Given the description of an element on the screen output the (x, y) to click on. 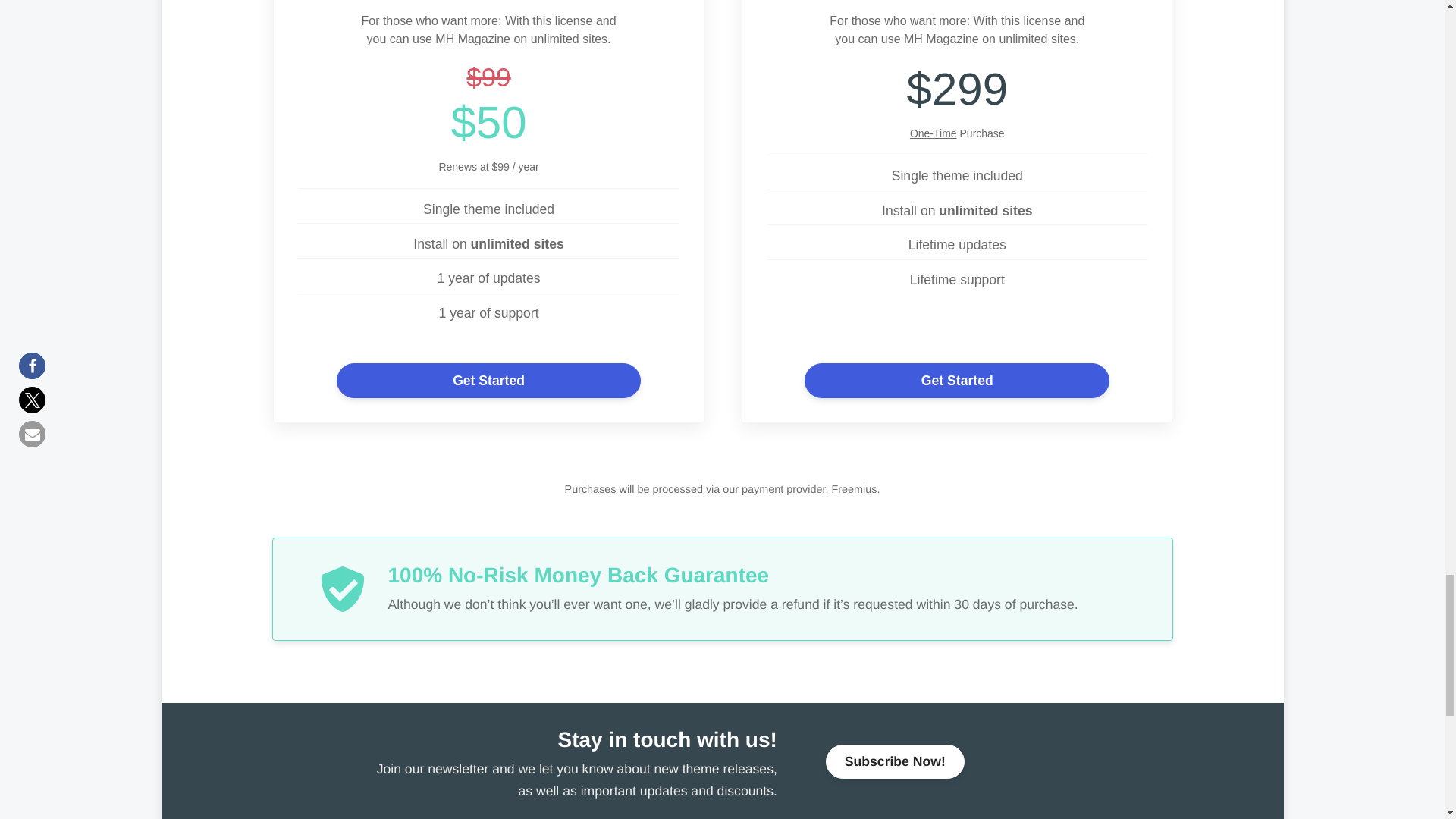
Subscribe Now! (894, 761)
Get Started (489, 380)
Get Started (957, 380)
Subscribe Now! (894, 761)
